Given the description of an element on the screen output the (x, y) to click on. 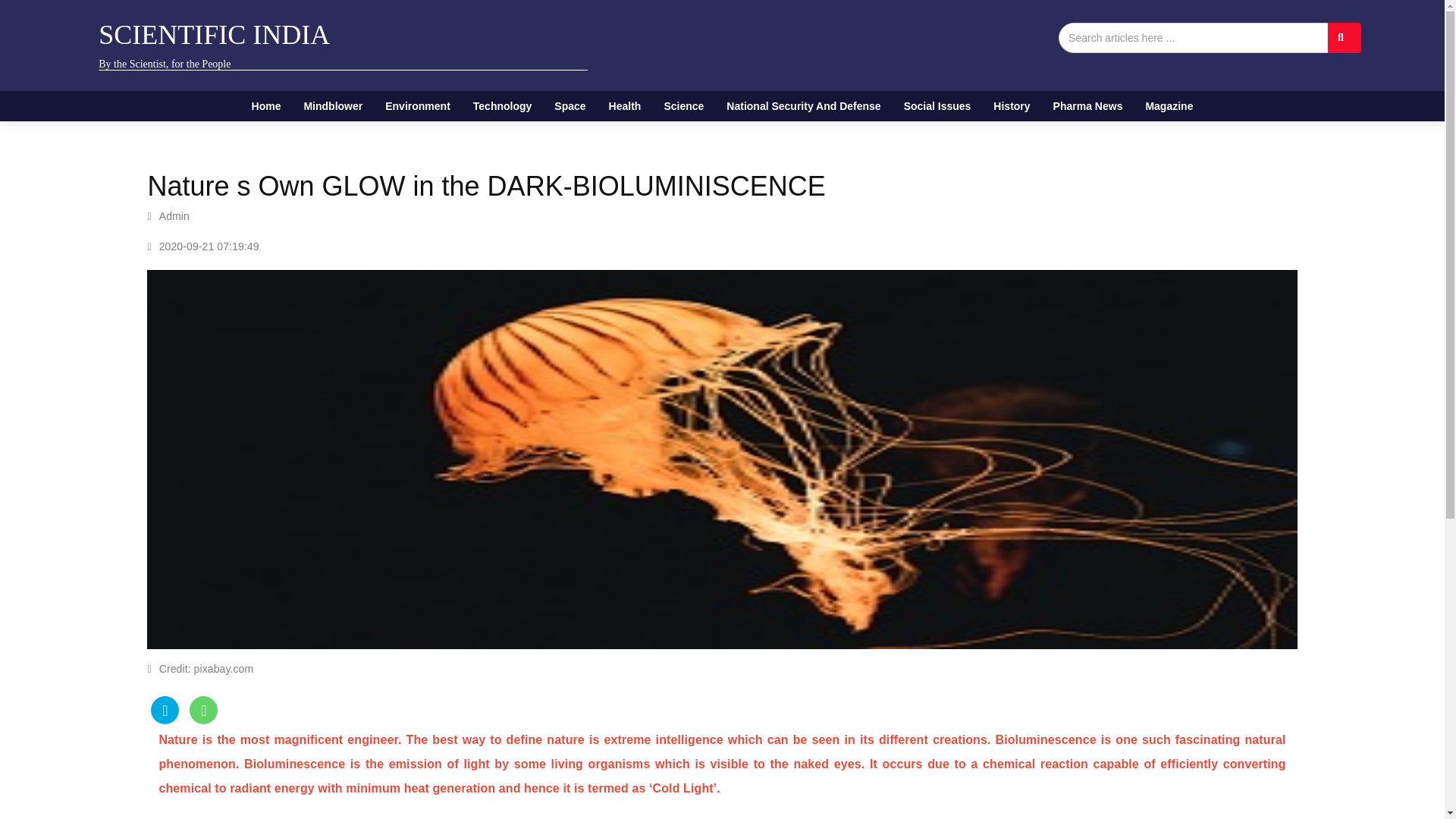
Share on whatsapp (202, 709)
Share on Twitter (165, 709)
Pharma News (1088, 105)
Home (266, 105)
History (1011, 105)
Social Issues (937, 105)
Environment (417, 105)
Technology (502, 105)
Science (683, 105)
Mindblower (333, 105)
